Given the description of an element on the screen output the (x, y) to click on. 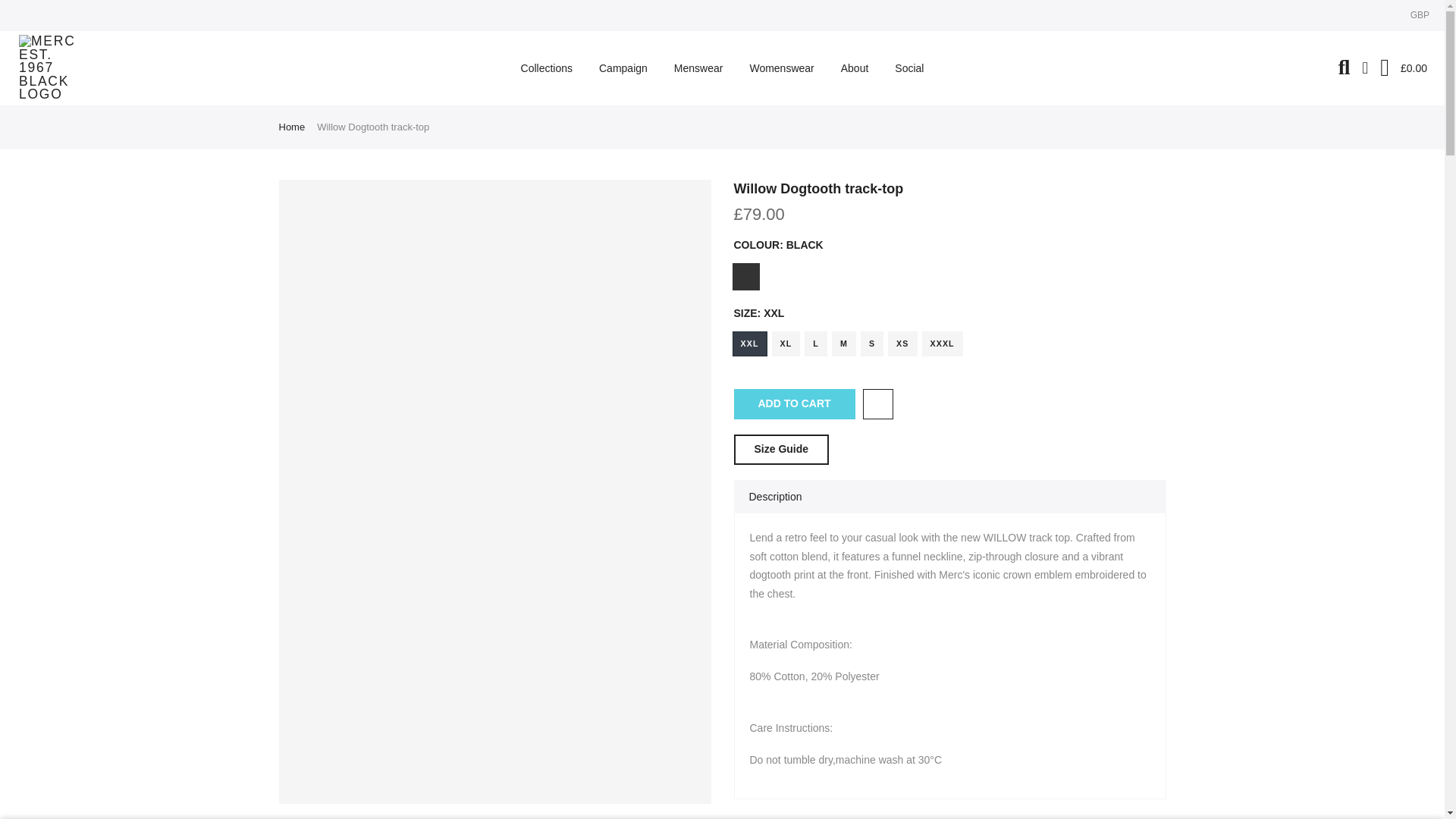
About (854, 68)
Collections (545, 68)
Womenswear (781, 68)
Campaign (623, 68)
Menswear (698, 68)
Social (909, 68)
